Given the description of an element on the screen output the (x, y) to click on. 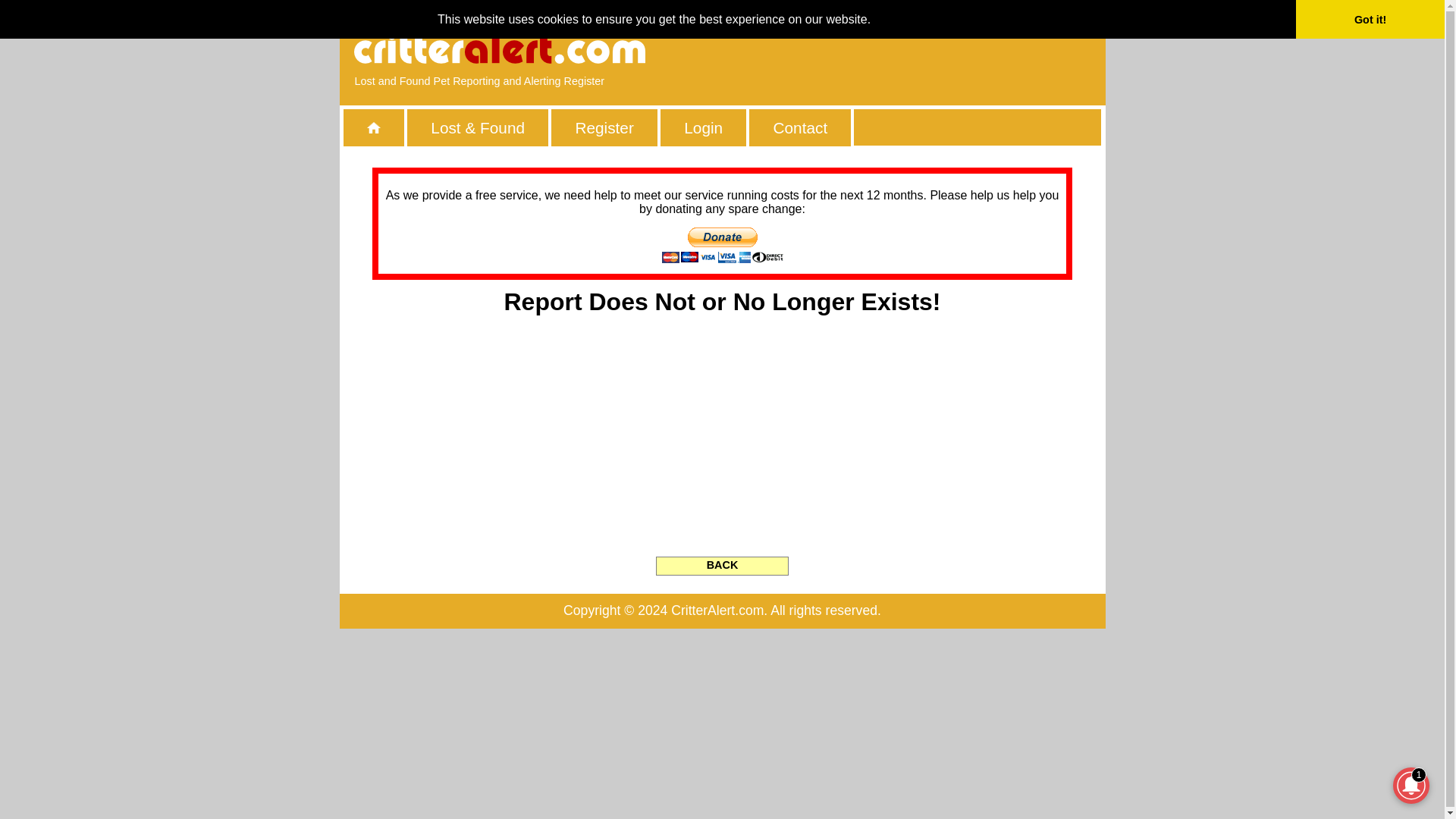
Register (604, 127)
Login (703, 127)
Contact (799, 127)
Advertisement (915, 49)
BACK (722, 565)
